Given the description of an element on the screen output the (x, y) to click on. 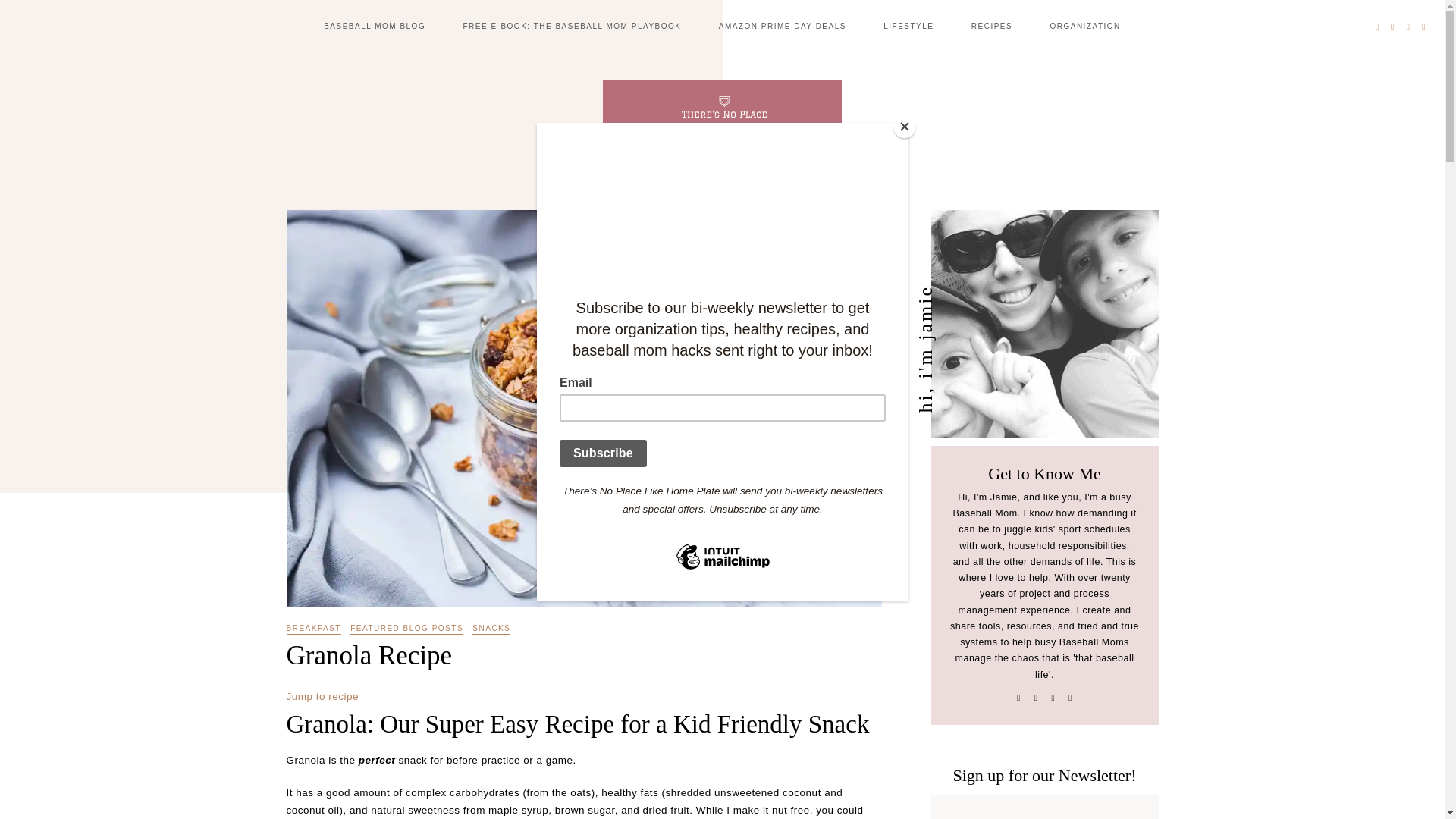
FREE E-BOOK: THE BASEBALL MOM PLAYBOOK (572, 26)
LIFESTYLE (908, 26)
RECIPES (991, 26)
AMAZON PRIME DAY DEALS (782, 26)
BASEBALL MOM BLOG (374, 26)
